Given the description of an element on the screen output the (x, y) to click on. 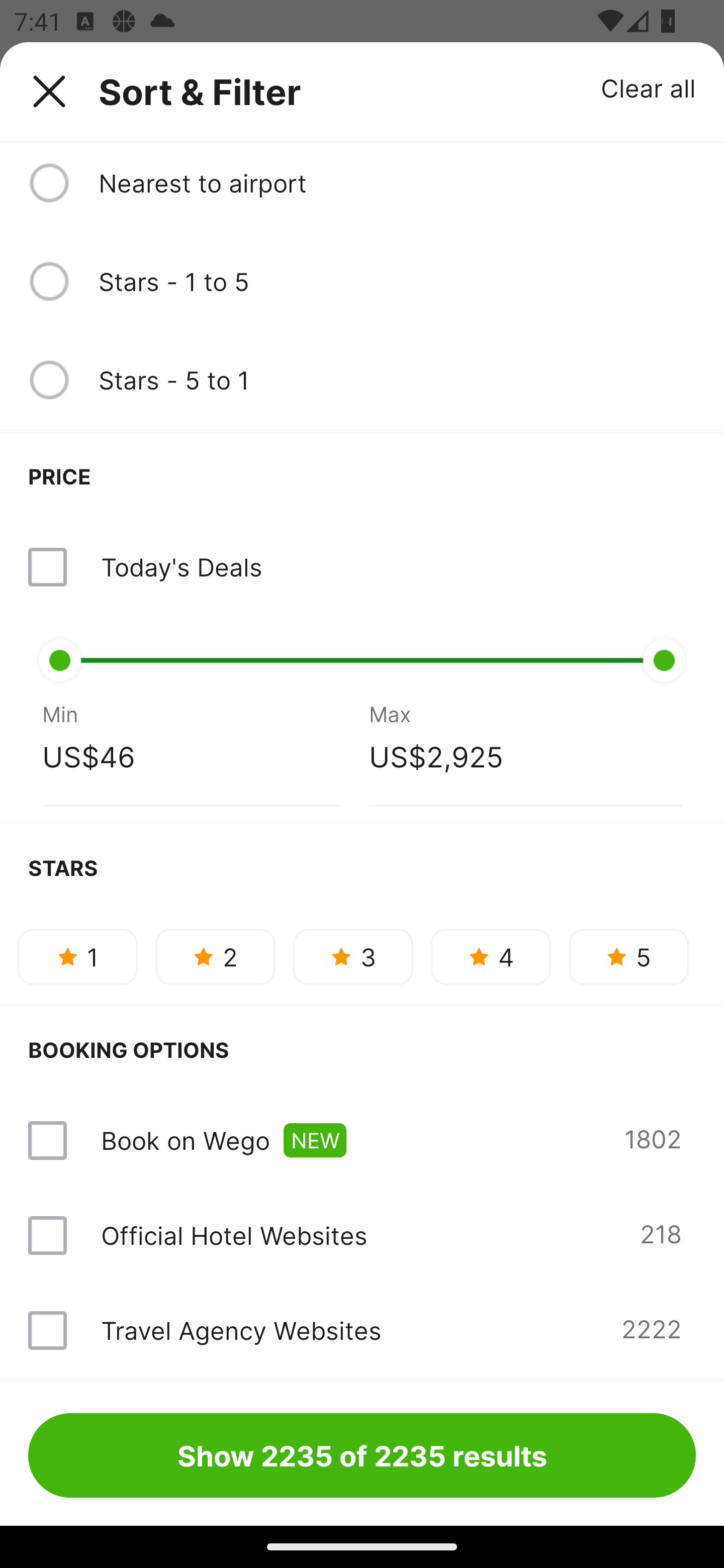
Clear all (648, 87)
Nearest to airport (396, 182)
Stars - 1 to 5 (396, 281)
Stars - 5 to 1 (396, 380)
Today's Deals (362, 566)
Today's Deals (181, 566)
1 (77, 956)
2 (214, 956)
3 (352, 956)
4 (491, 956)
5 (627, 956)
Book on Wego NEW 1802 (362, 1140)
Book on Wego (184, 1139)
Official Hotel Websites 218 (362, 1235)
Official Hotel Websites (233, 1235)
Travel Agency Websites 2222 (362, 1330)
Travel Agency Websites (240, 1330)
Show 2235 of 2235 results (361, 1454)
